Given the description of an element on the screen output the (x, y) to click on. 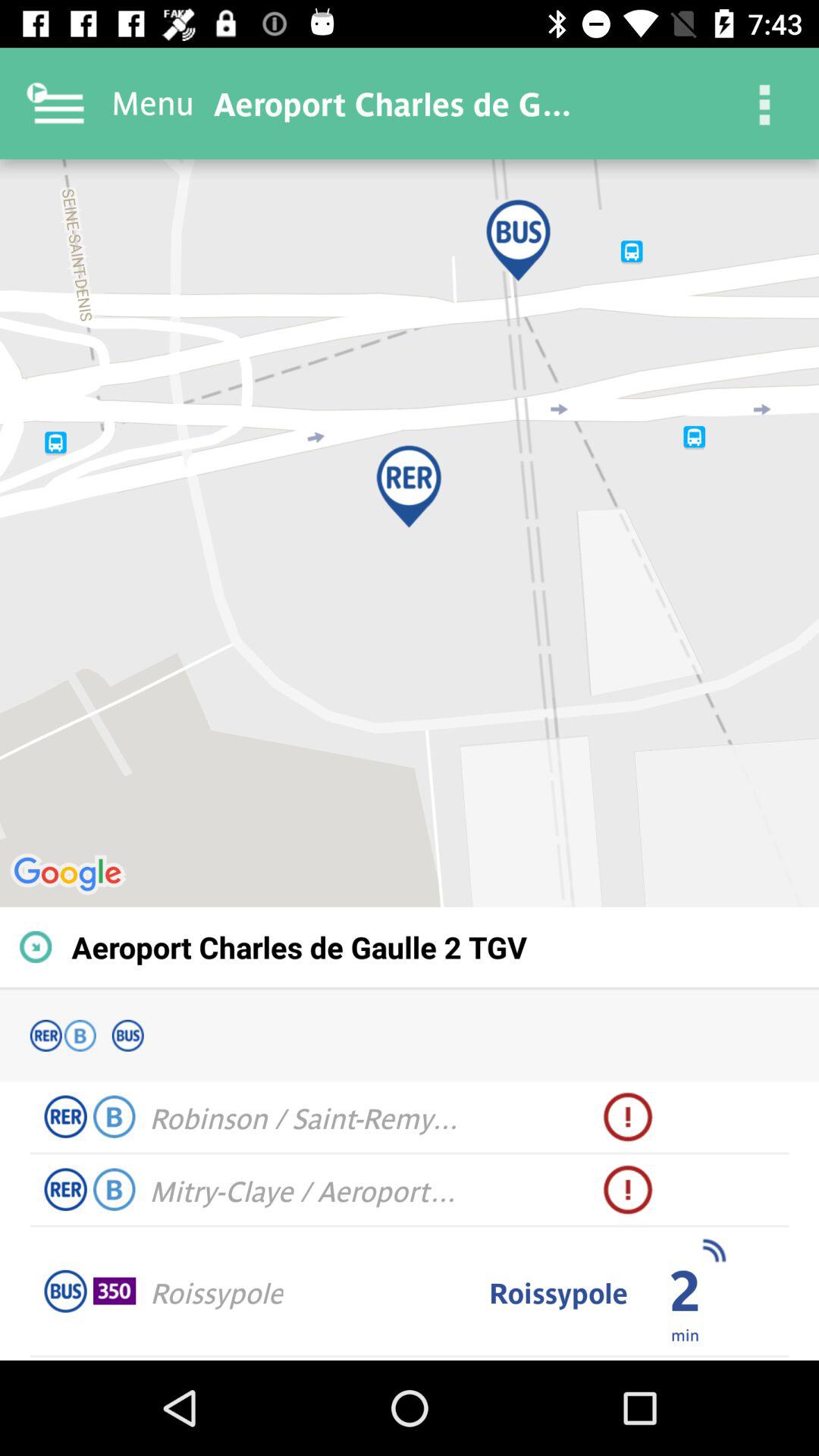
turn on item next to roissypole icon (684, 1334)
